Given the description of an element on the screen output the (x, y) to click on. 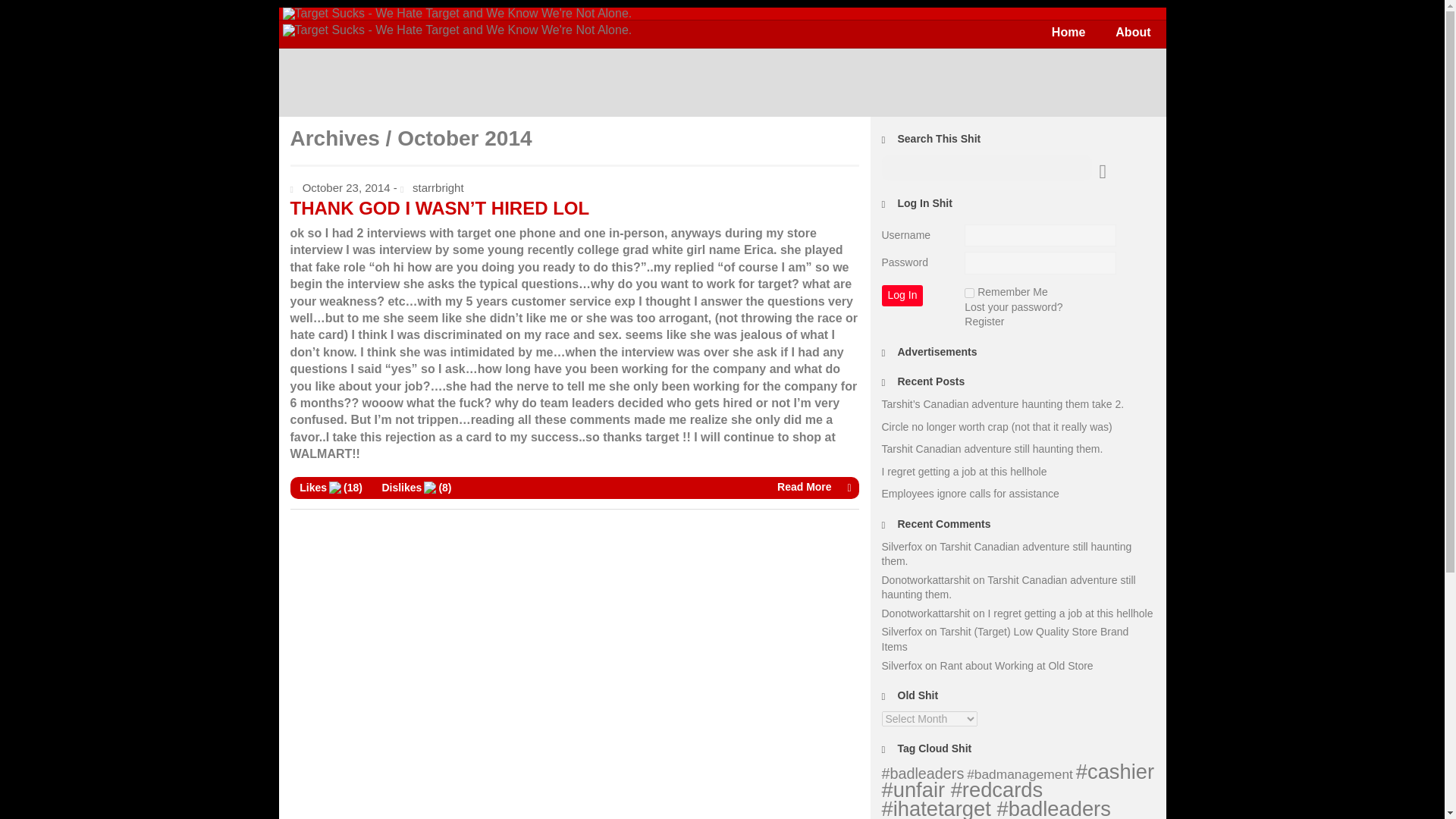
Read More (574, 487)
Tarshit Canadian adventure still haunting them. (991, 449)
Tarshit Canadian adventure still haunting them. (1007, 587)
Log In (901, 295)
Search (22, 10)
Rant about Working at Old Store (1016, 665)
Home (1068, 32)
Password Lost and Found (1012, 306)
I regret getting a job at this hellhole (1070, 613)
Lost your password? (1012, 306)
